Given the description of an element on the screen output the (x, y) to click on. 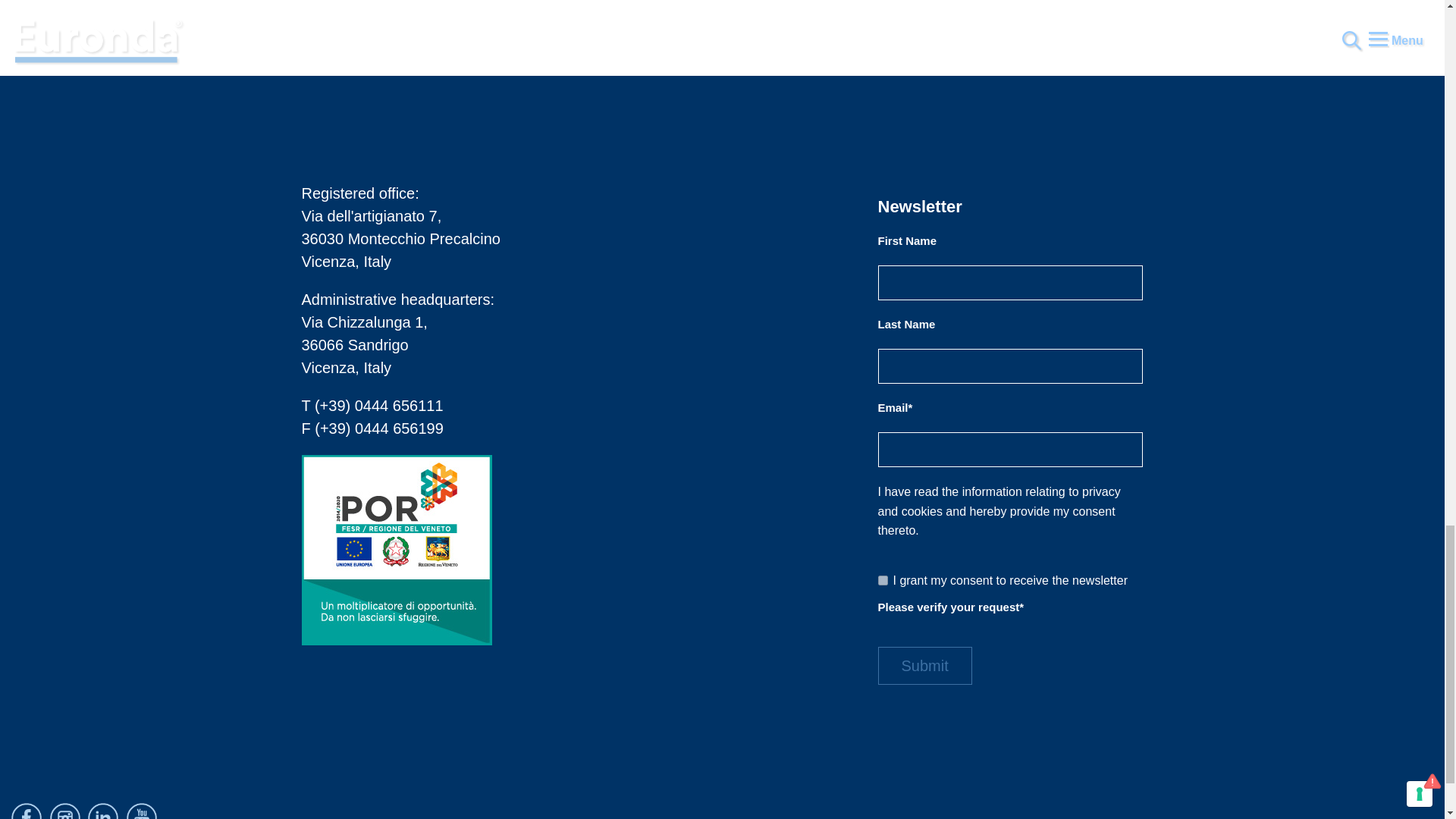
I grant my consent to receive the newsletter (882, 580)
